Given the description of an element on the screen output the (x, y) to click on. 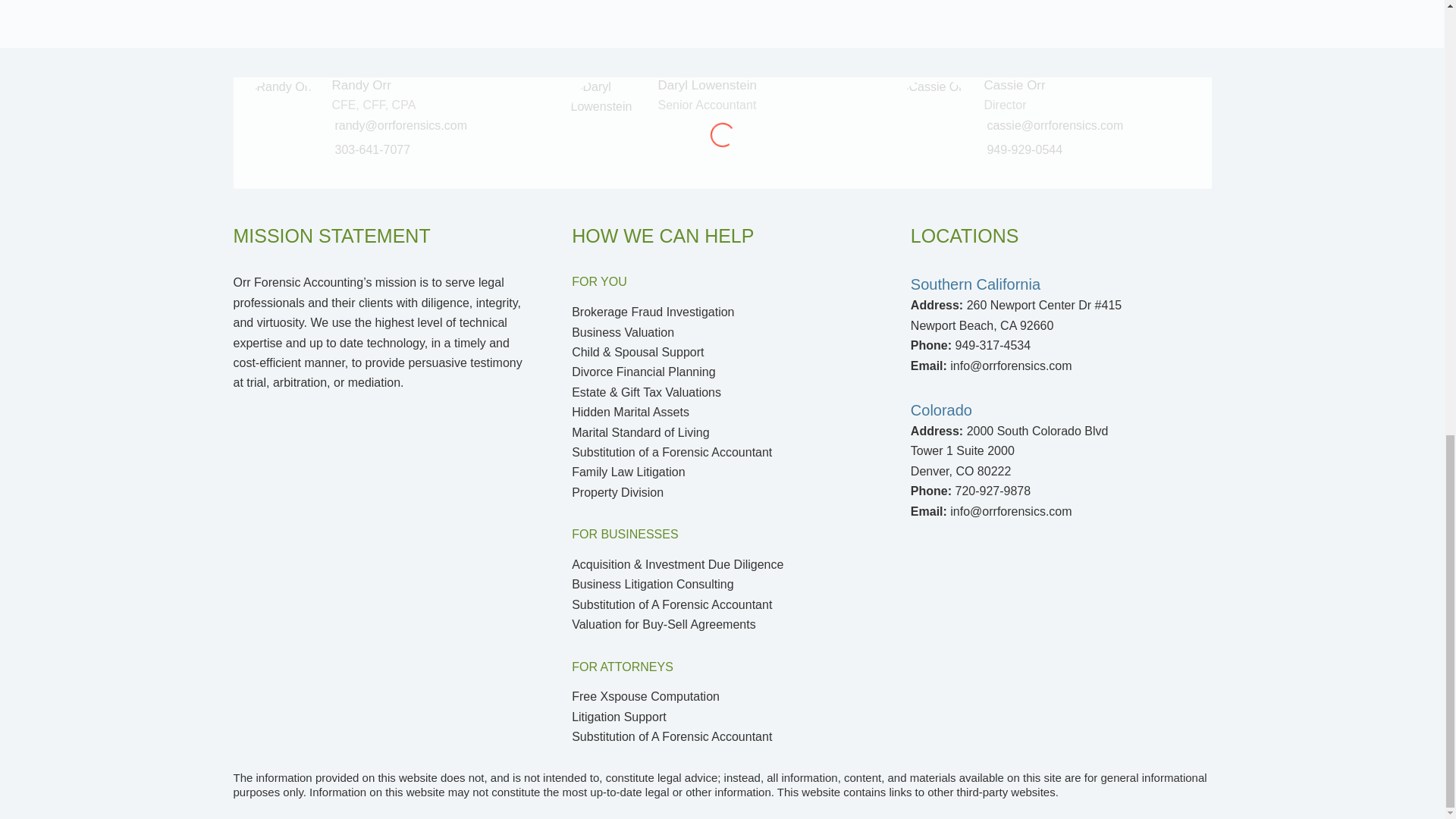
Randy Orr (360, 84)
Cassie Orr (1005, 104)
Daryl Lowenstein (706, 104)
Daryl Lowenstein (706, 84)
Cassie Orr (1014, 84)
Randy Orr (372, 104)
